Given the description of an element on the screen output the (x, y) to click on. 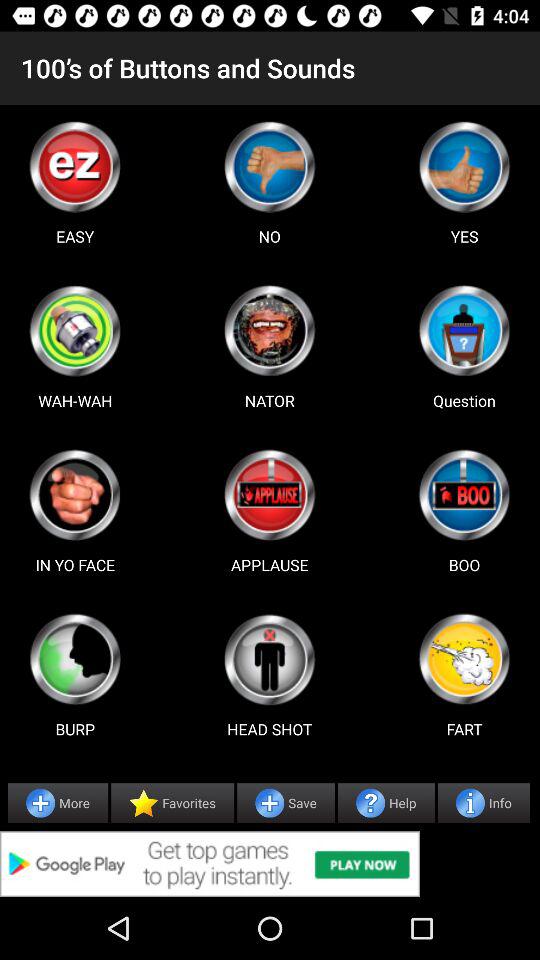
down page (269, 166)
